Given the description of an element on the screen output the (x, y) to click on. 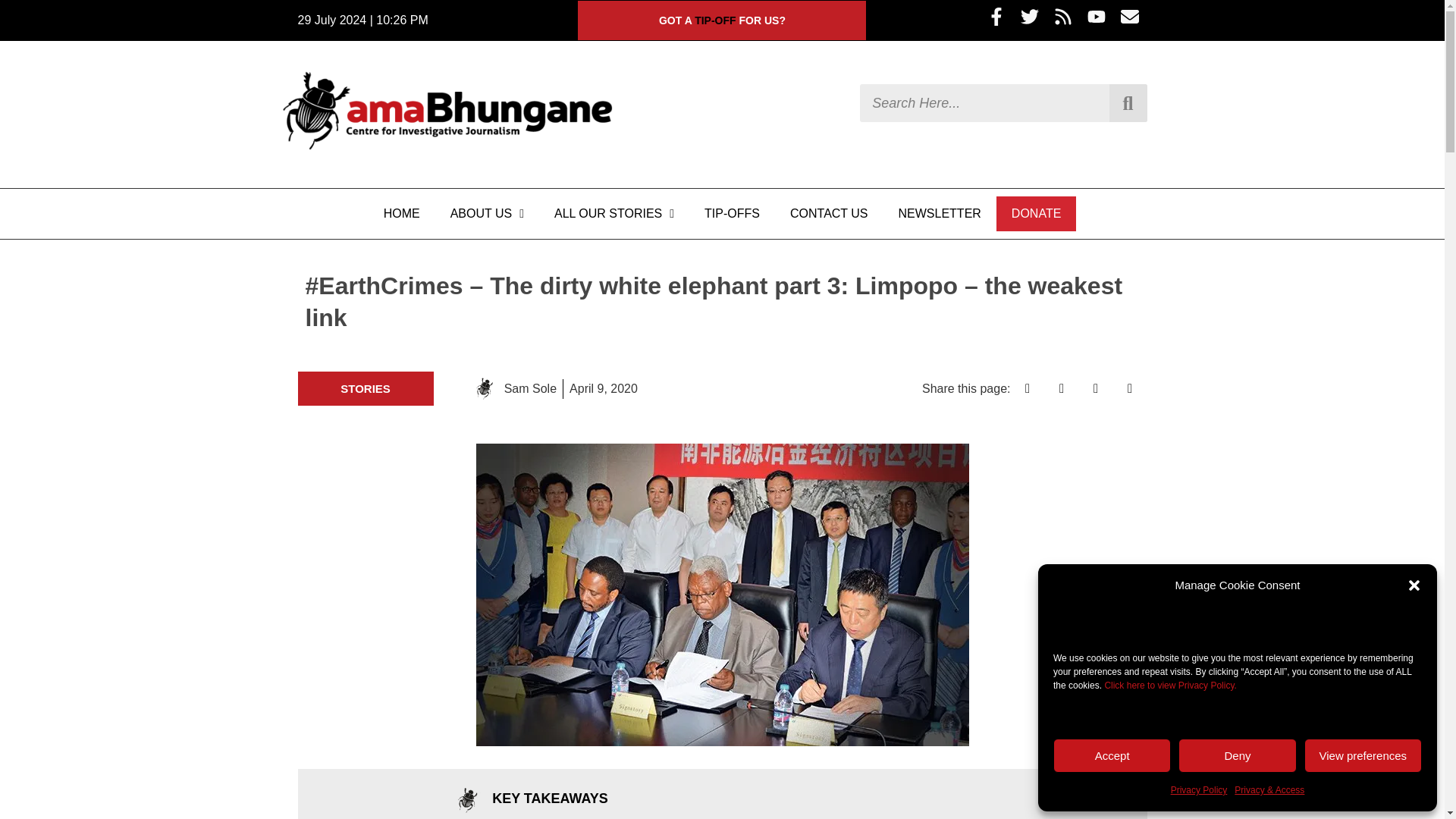
Deny (1236, 755)
Accept (1111, 755)
View preferences (1363, 755)
Privacy Policy (1198, 790)
GOT A TIP-OFF FOR US? (722, 20)
Click here to view Privacy Policy. (1169, 685)
